Given the description of an element on the screen output the (x, y) to click on. 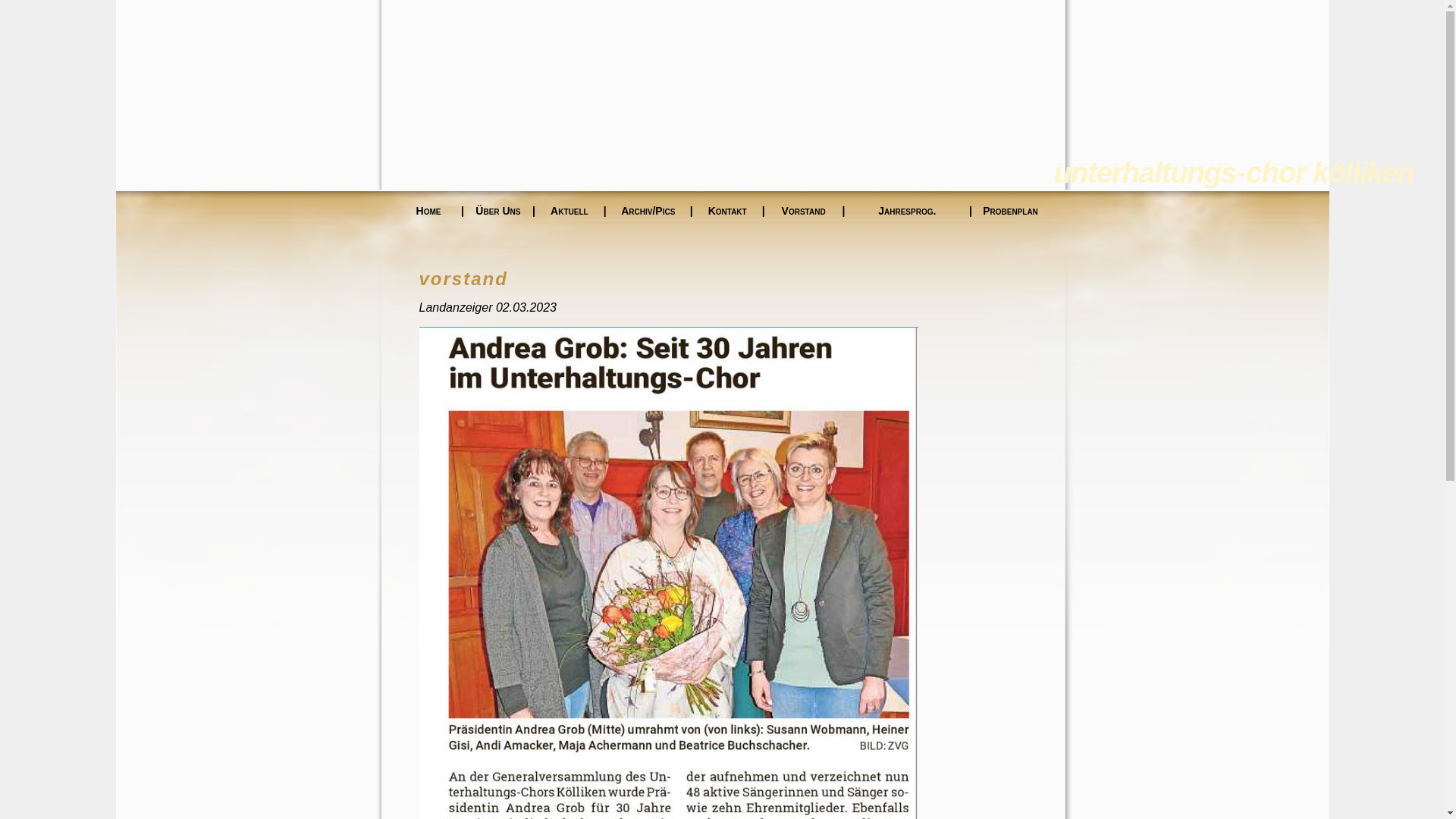
Jahresprog. Element type: text (907, 210)
Aktuell Element type: text (569, 210)
| Element type: text (691, 210)
Vorstand Element type: text (803, 210)
| Element type: text (604, 210)
Home Element type: text (428, 210)
| Element type: text (533, 210)
| Element type: text (763, 210)
| Element type: text (843, 210)
| Element type: text (970, 210)
Kontakt Element type: text (727, 210)
Probenplan Element type: text (1010, 210)
Archiv/Pics Element type: text (648, 210)
| Element type: text (462, 210)
